Given the description of an element on the screen output the (x, y) to click on. 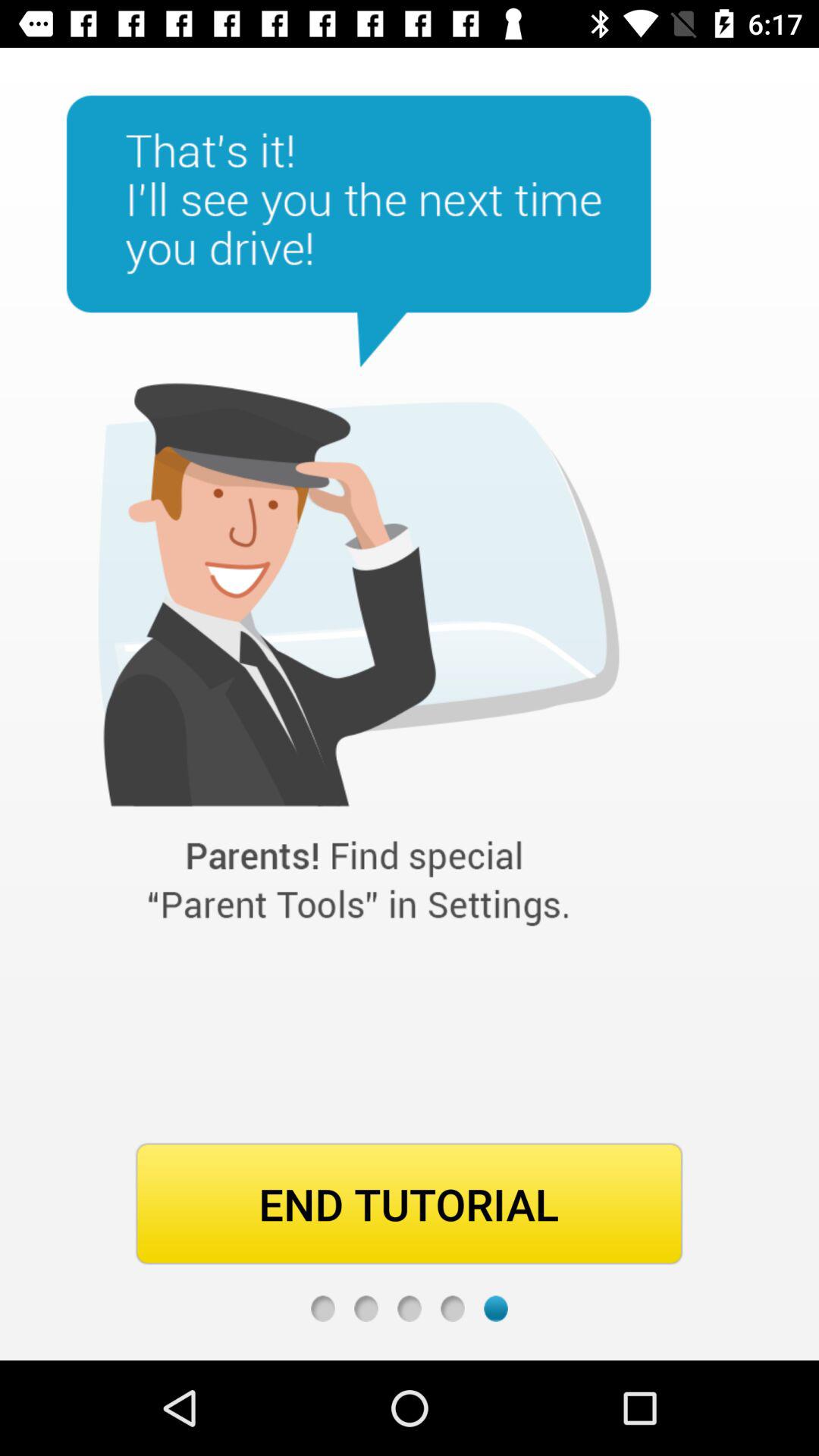
last page marker (495, 1308)
